Given the description of an element on the screen output the (x, y) to click on. 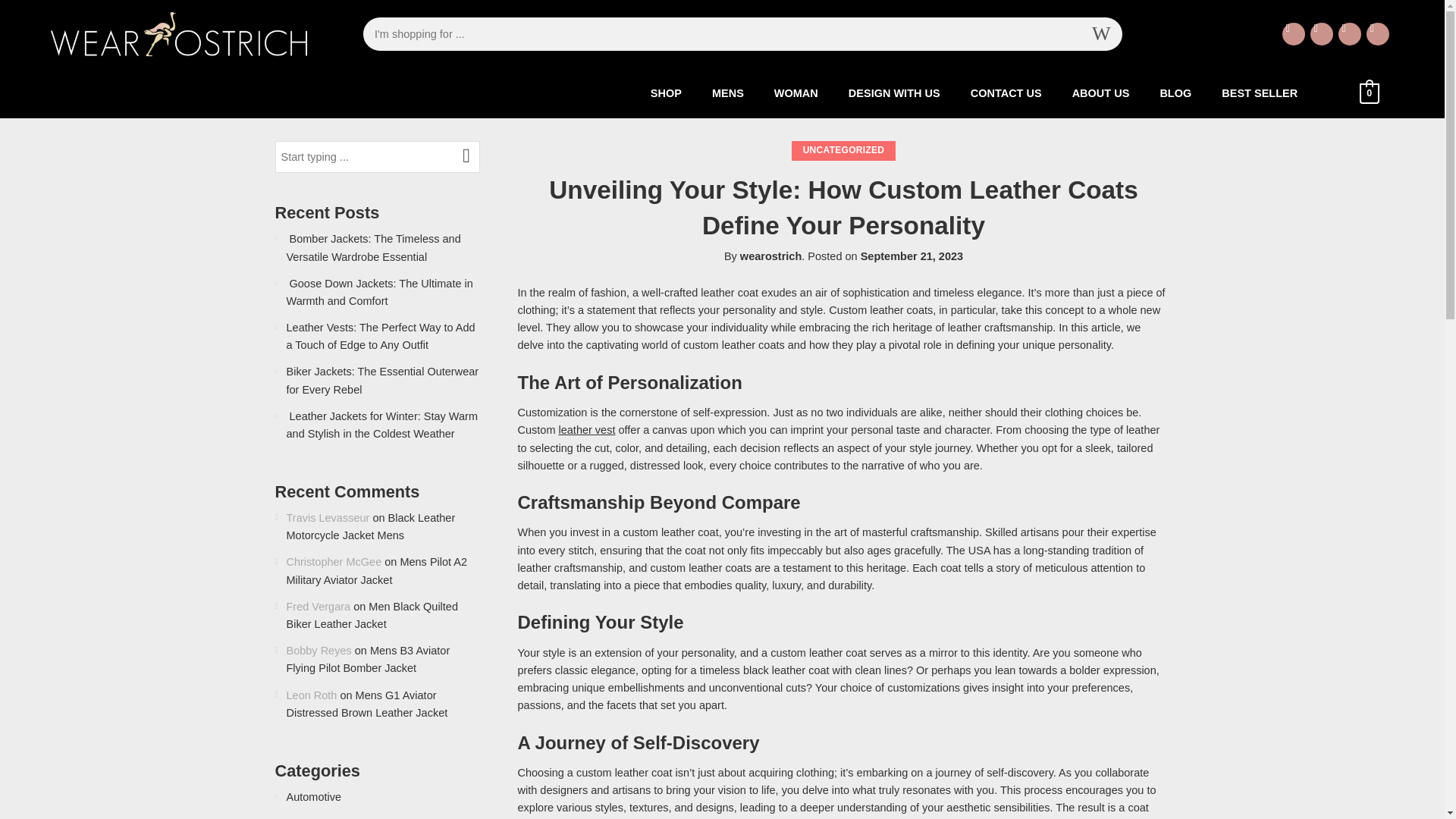
12:53 pm (911, 256)
ABOUT US (1100, 93)
MENS (727, 93)
BEST SELLER (1260, 93)
SHOP (665, 93)
BLOG (1175, 93)
View all posts by wearostrich (770, 256)
CONTACT US (1006, 93)
DESIGN WITH US (893, 93)
WOMAN (795, 93)
View your shopping cart (1368, 92)
